Given the description of an element on the screen output the (x, y) to click on. 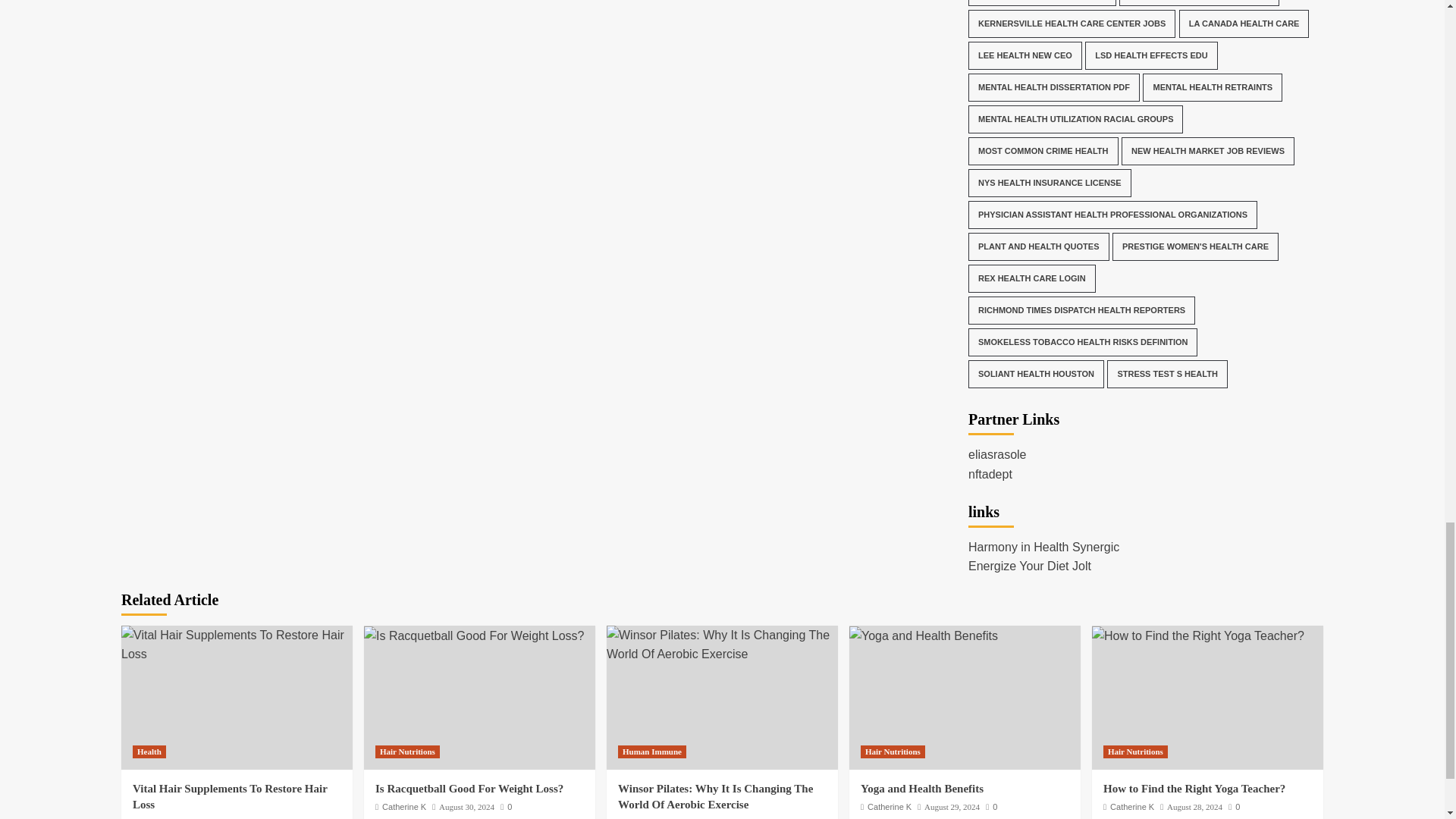
Vital Hair Supplements To Restore Hair Loss (236, 644)
Is Racquetball Good For Weight Loss? (474, 636)
